Given the description of an element on the screen output the (x, y) to click on. 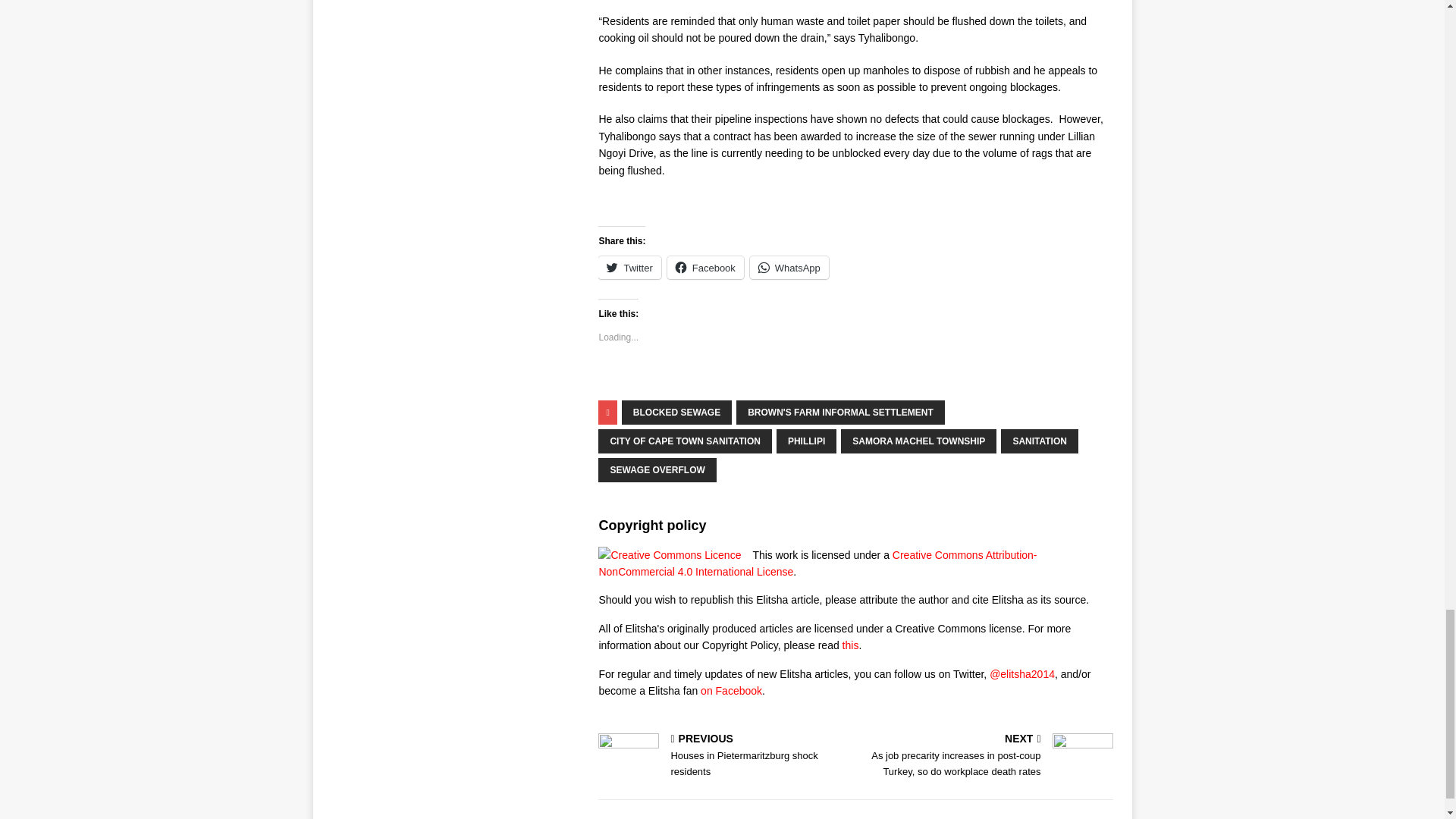
SAMORA MACHEL TOWNSHIP (918, 441)
CITY OF CAPE TOWN SANITATION (684, 441)
Click to share on WhatsApp (788, 267)
WhatsApp (788, 267)
BROWN'S FARM INFORMAL SETTLEMENT (840, 412)
SEWAGE OVERFLOW (657, 469)
SANITATION (1039, 441)
BLOCKED SEWAGE (676, 412)
PHILLIPI (805, 441)
Twitter (629, 267)
